Given the description of an element on the screen output the (x, y) to click on. 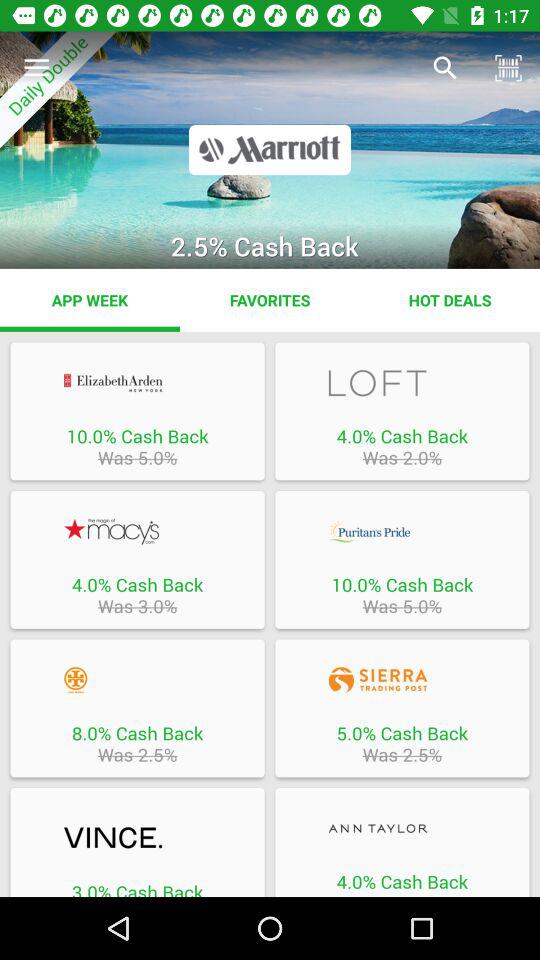
open loft (402, 382)
